Given the description of an element on the screen output the (x, y) to click on. 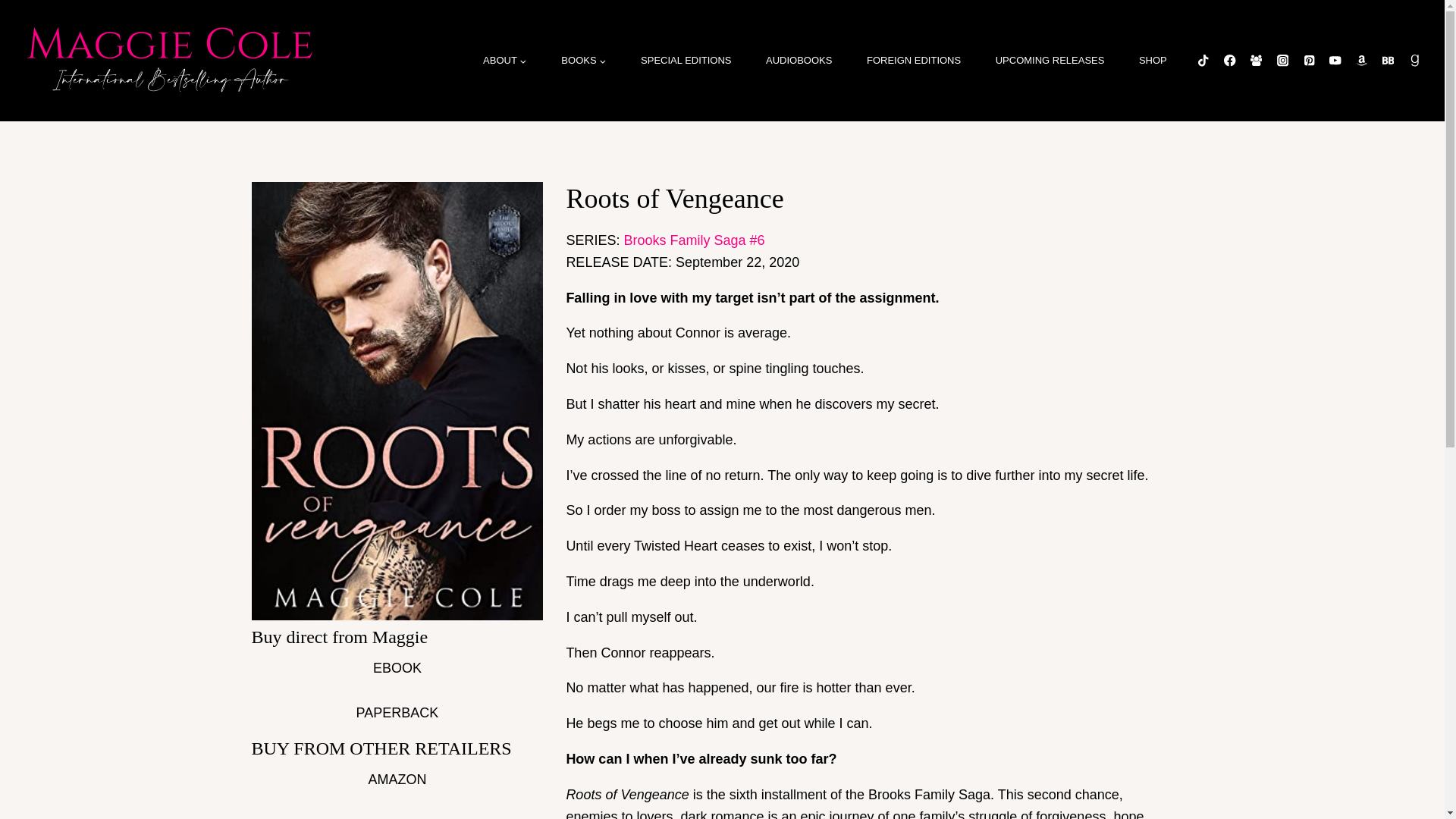
SHOP (1152, 60)
UPCOMING RELEASES (1049, 60)
EBOOK (397, 668)
BOOKS (584, 60)
FOREIGN EDITIONS (913, 60)
ABOUT (504, 60)
SPECIAL EDITIONS (685, 60)
AUDIOBOOKS (798, 60)
PAPERBACK (397, 712)
